Given the description of an element on the screen output the (x, y) to click on. 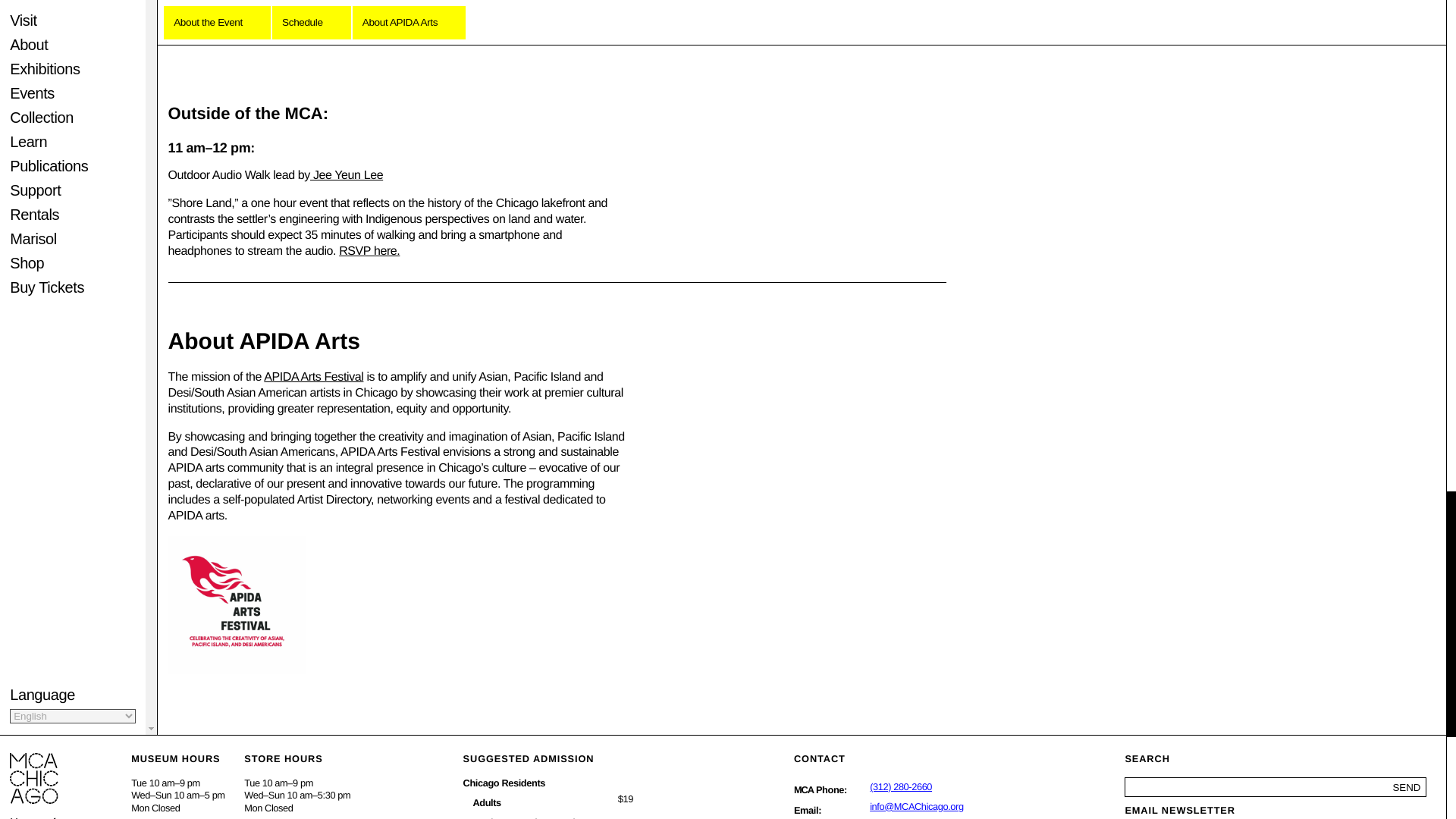
send (1406, 787)
Museum of Contemporary Art Chicago (803, 789)
click here to submit search query (1406, 787)
